Given the description of an element on the screen output the (x, y) to click on. 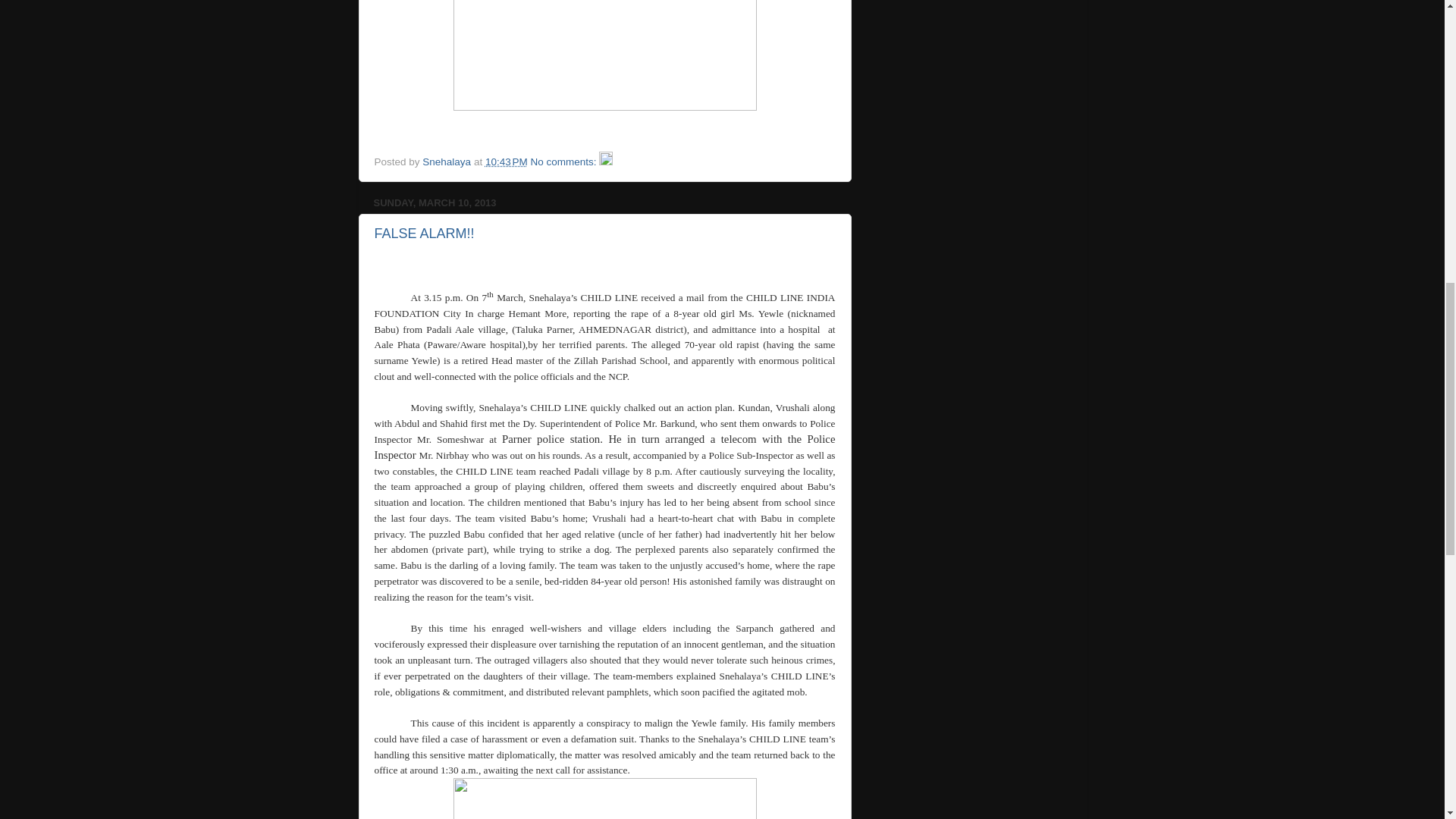
Snehalaya (448, 161)
permanent link (505, 161)
author profile (448, 161)
FALSE ALARM!! (424, 233)
No comments: (565, 161)
Edit Post (605, 161)
